Given the description of an element on the screen output the (x, y) to click on. 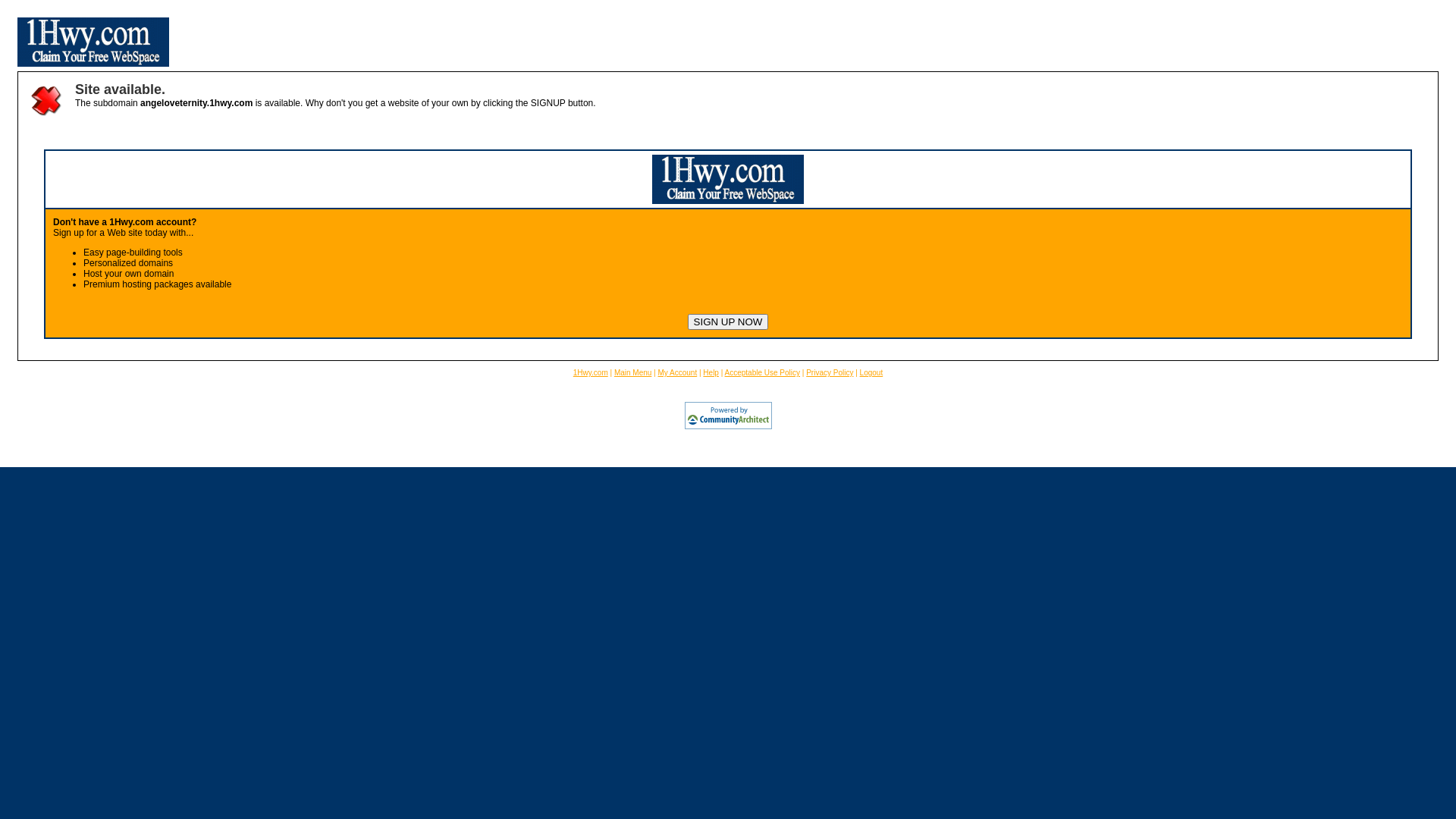
Acceptable Use Policy Element type: text (762, 372)
My Account Element type: text (677, 372)
Main Menu Element type: text (632, 372)
SIGN UP NOW Element type: text (727, 321)
Logout Element type: text (871, 372)
1Hwy.com Element type: text (590, 372)
Privacy Policy Element type: text (829, 372)
Help Element type: text (710, 372)
